Given the description of an element on the screen output the (x, y) to click on. 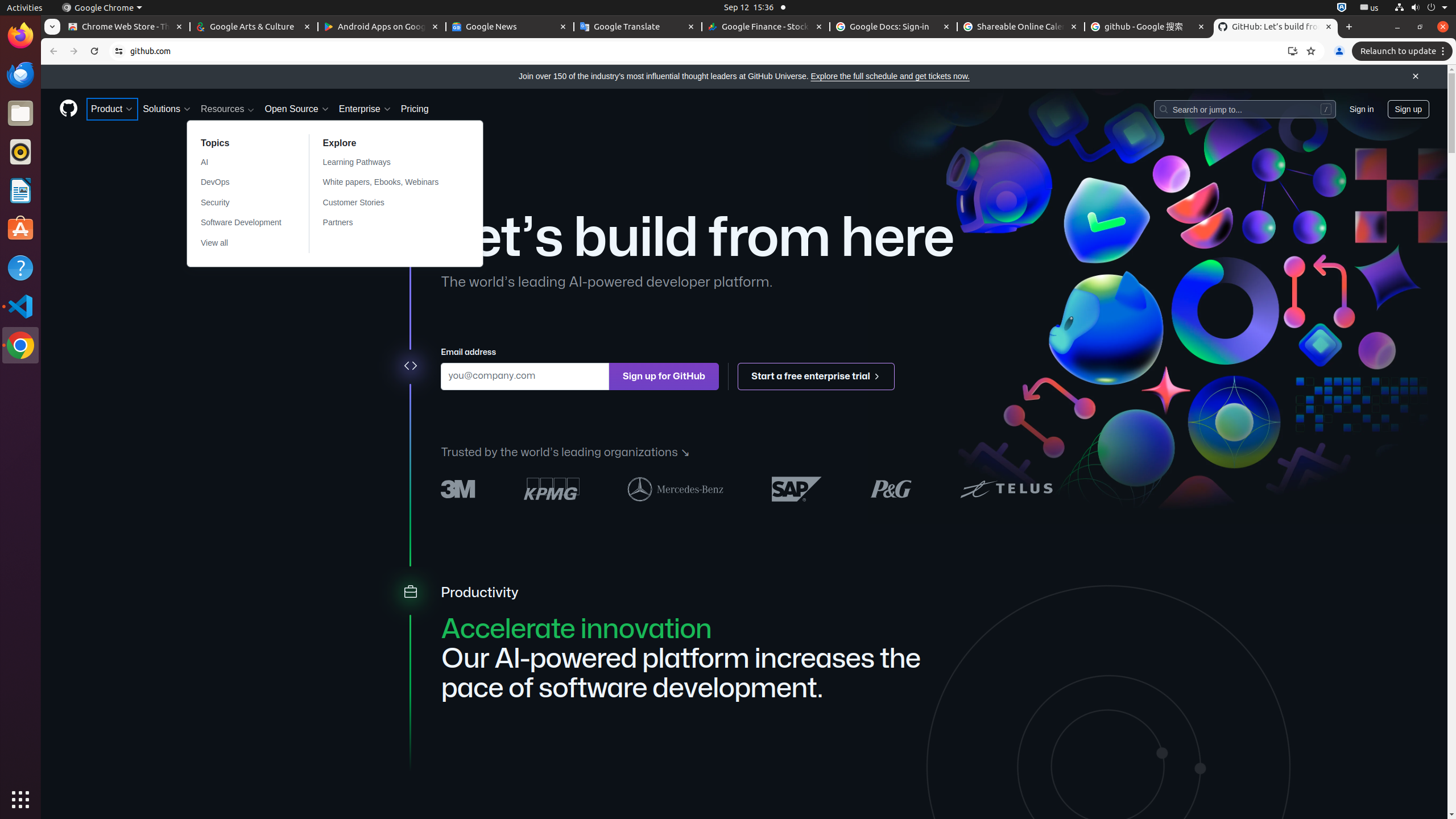
Rhythmbox Element type: push-button (20, 151)
LibreOffice Writer Element type: push-button (20, 190)
Sign up Element type: link (1408, 108)
Thunderbird Mail Element type: push-button (20, 74)
Open Source Element type: push-button (296, 108)
